Given the description of an element on the screen output the (x, y) to click on. 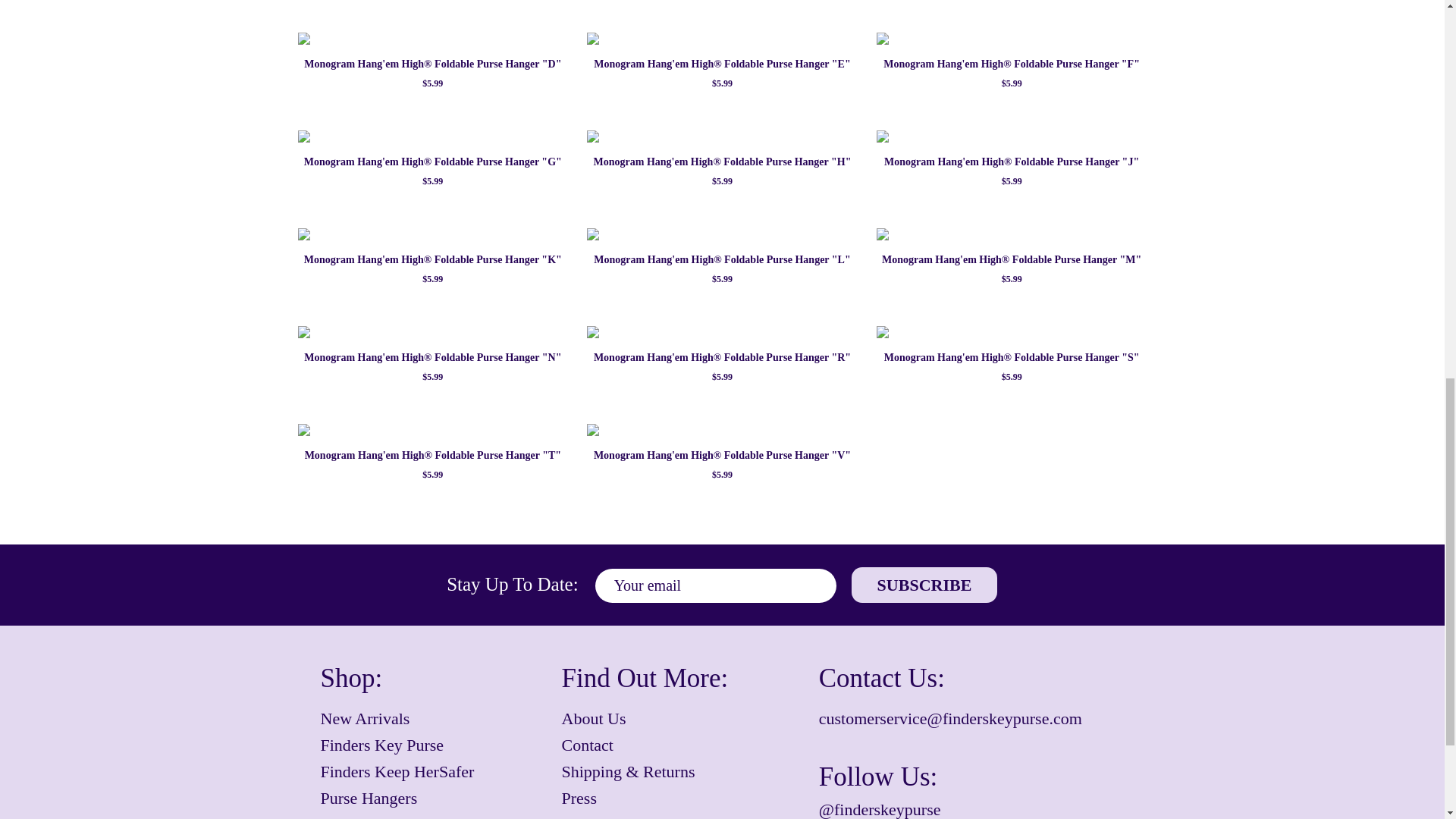
subscribe (923, 584)
